Given the description of an element on the screen output the (x, y) to click on. 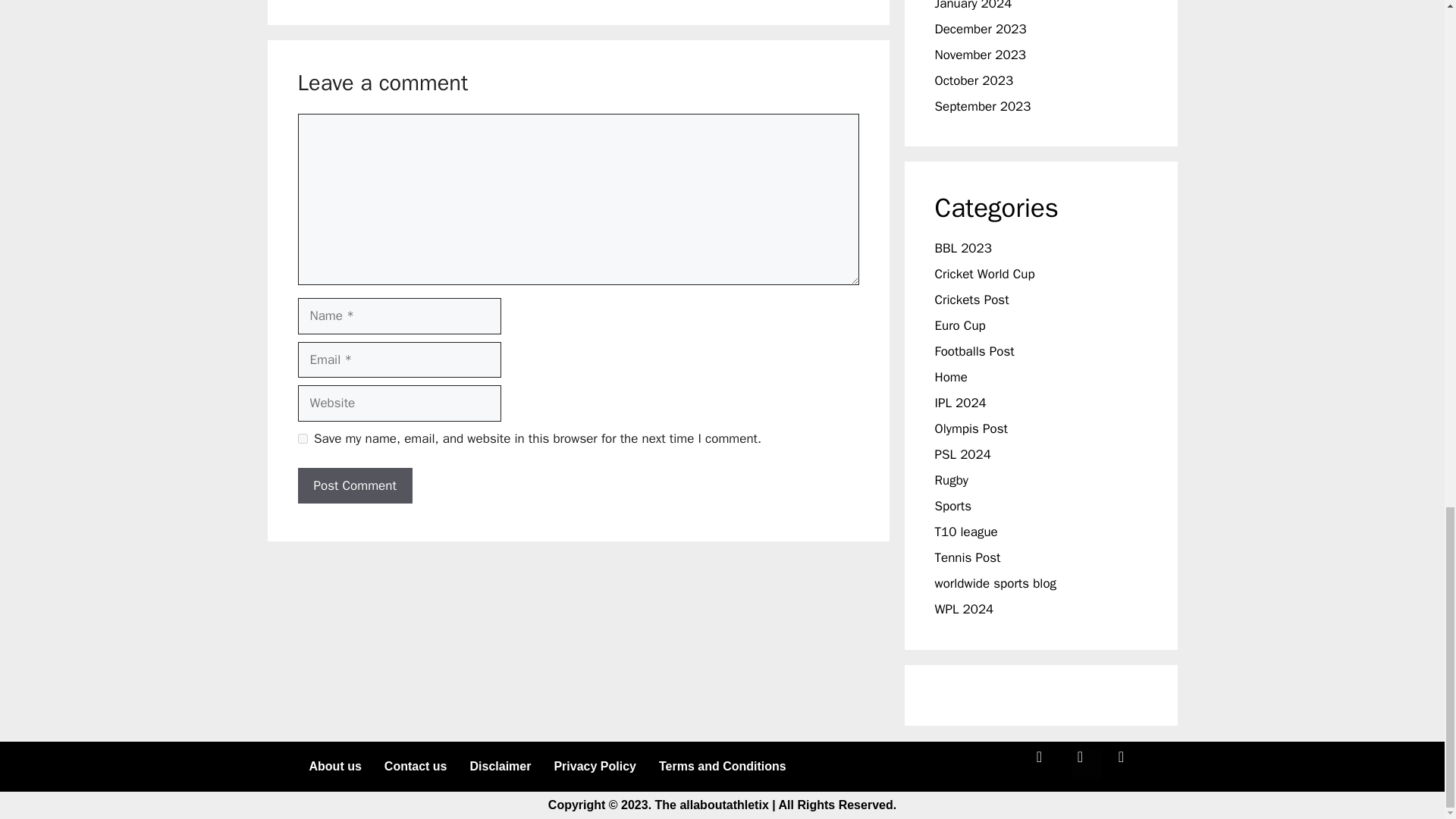
Post Comment (354, 485)
Post Comment (354, 485)
yes (302, 438)
